Given the description of an element on the screen output the (x, y) to click on. 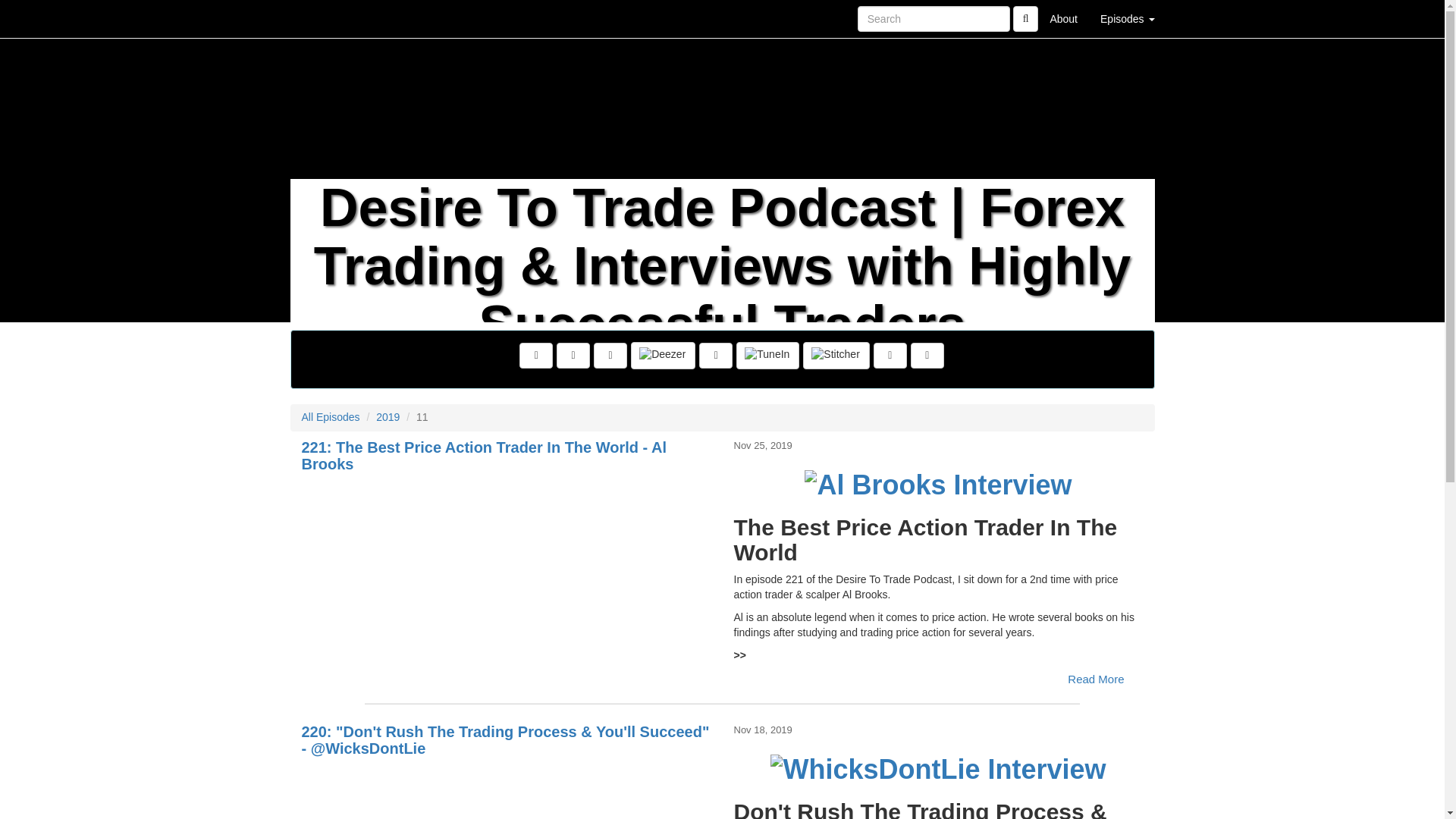
Listen on Stitcher (836, 355)
Listen on TuneIn (767, 355)
Listen on Apple Podcasts (715, 355)
Go To YouTube Channel (927, 355)
About (1063, 18)
Episodes (1127, 18)
Visit Us on Twitter (572, 355)
Listen on Deezer (662, 355)
Home Page (320, 18)
Subscribe to RSS Feed (610, 355)
